Given the description of an element on the screen output the (x, y) to click on. 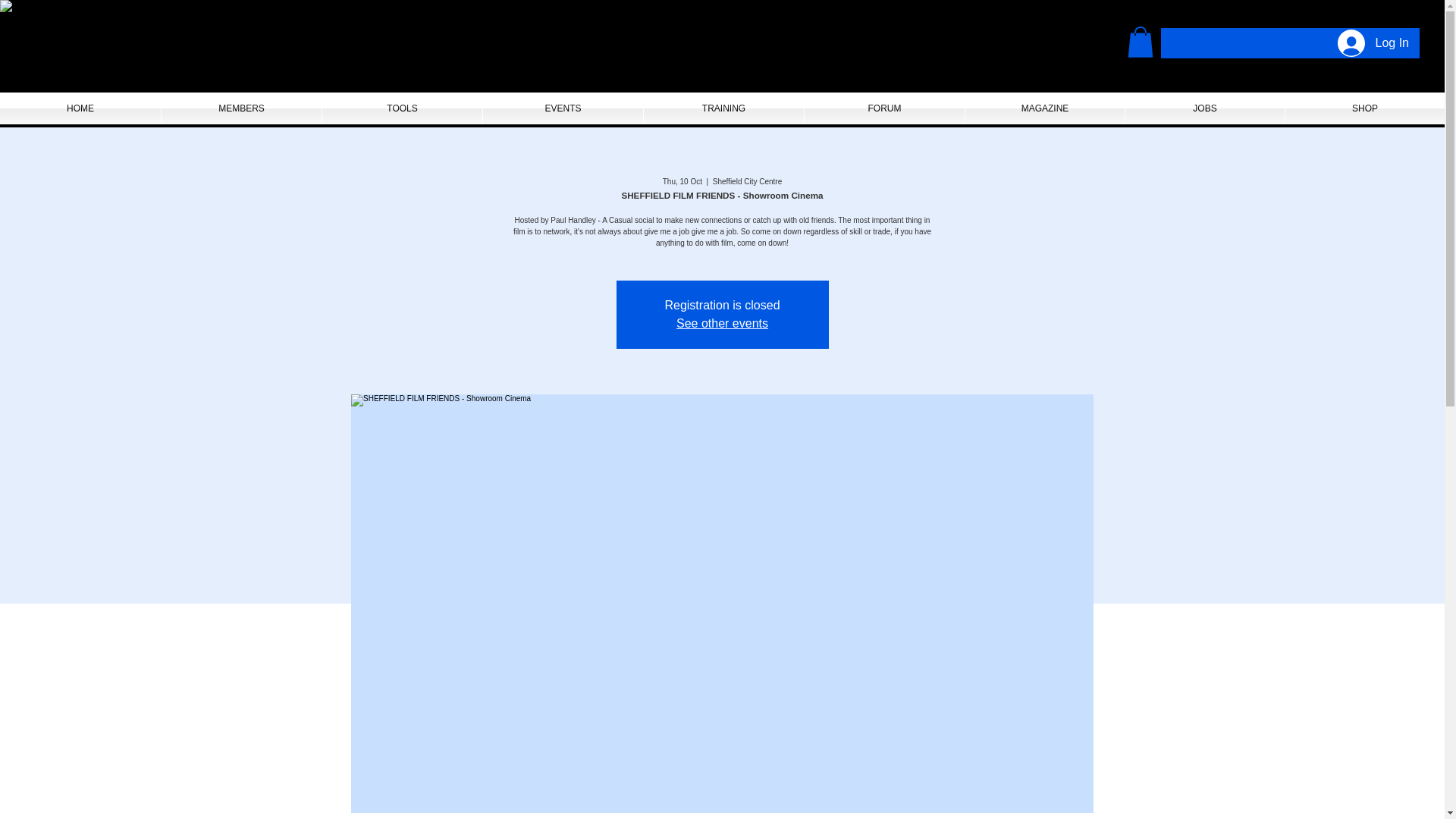
Log In (1372, 43)
MEMBERS (241, 108)
TRAINING (723, 108)
EVENTS (563, 108)
FORUM (884, 108)
HOME (80, 108)
MAGAZINE (1044, 108)
